Given the description of an element on the screen output the (x, y) to click on. 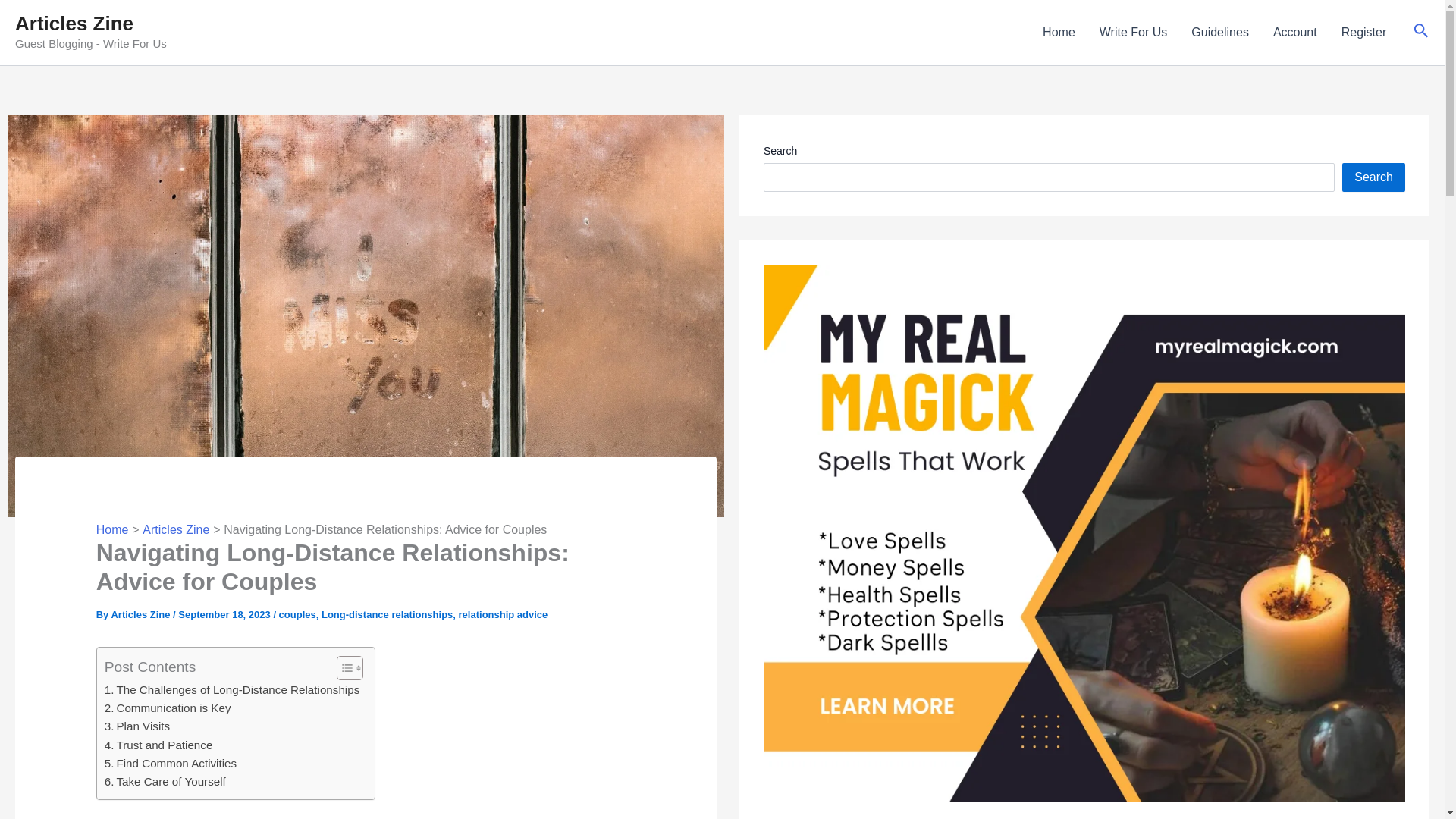
Find Common Activities (169, 763)
Communication is Key (167, 708)
Plan Visits (137, 726)
Home (112, 529)
Plan Visits (137, 726)
Trust and Patience (158, 745)
Guidelines (1219, 32)
Find Common Activities (169, 763)
Articles Zine (175, 529)
Long-distance relationships (386, 614)
Register (1364, 32)
The Challenges of Long-Distance Relationships (231, 689)
Home (1058, 32)
Trust and Patience (158, 745)
